Given the description of an element on the screen output the (x, y) to click on. 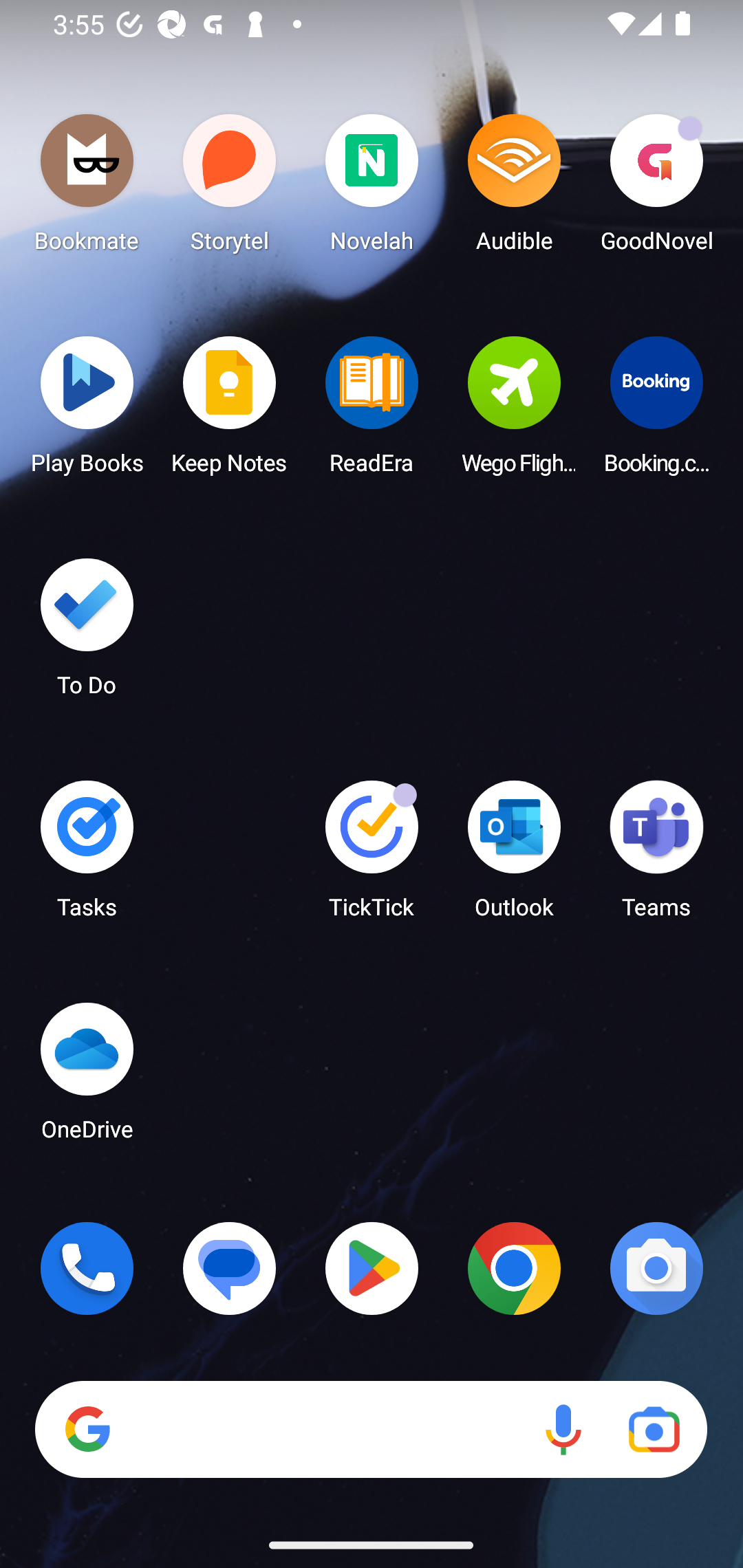
Bookmate (86, 188)
Storytel (229, 188)
Novelah (371, 188)
Audible (513, 188)
GoodNovel GoodNovel has 1 notification (656, 188)
Play Books (86, 410)
Keep Notes (229, 410)
ReadEra (371, 410)
Wego Flights & Hotels (513, 410)
Booking.com (656, 410)
To Do (86, 633)
Tasks (86, 854)
TickTick TickTick has 3 notifications (371, 854)
Outlook (513, 854)
Teams (656, 854)
OneDrive (86, 1076)
Phone (86, 1268)
Messages (229, 1268)
Play Store (371, 1268)
Chrome (513, 1268)
Camera (656, 1268)
Search Voice search Google Lens (370, 1429)
Voice search (562, 1429)
Google Lens (653, 1429)
